Given the description of an element on the screen output the (x, y) to click on. 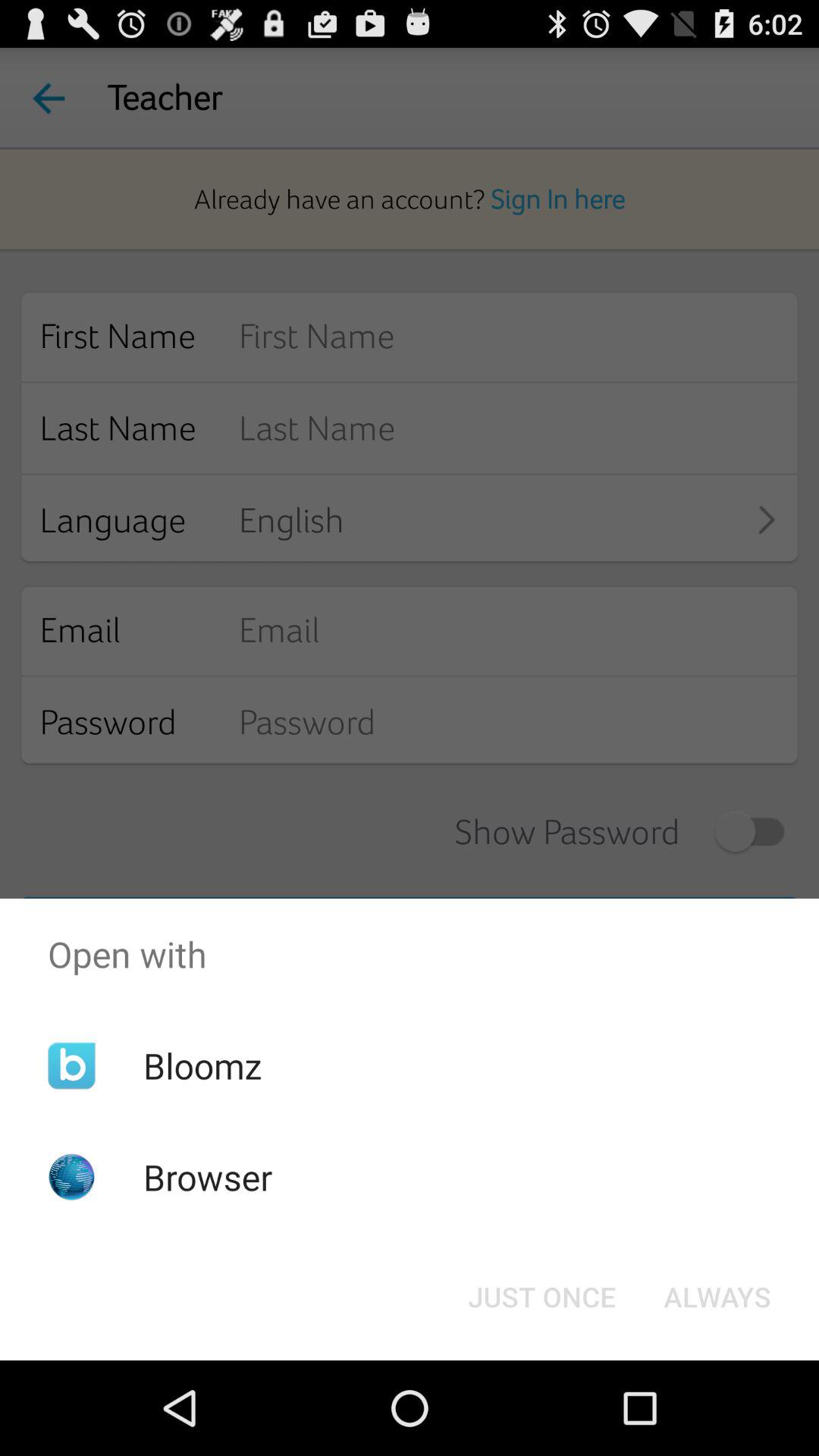
choose the browser app (207, 1176)
